Given the description of an element on the screen output the (x, y) to click on. 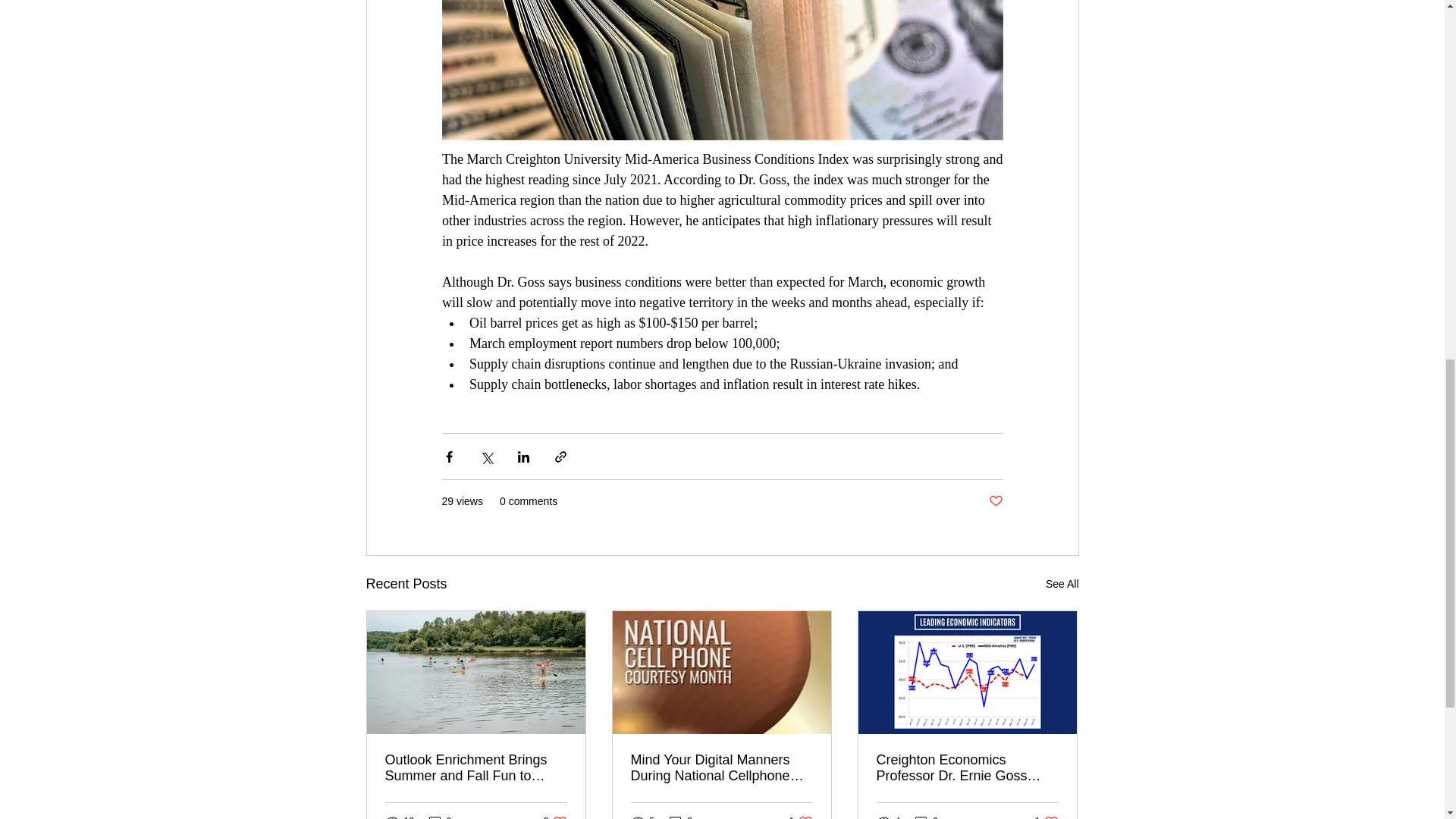
0 (440, 816)
See All (1061, 584)
Post not marked as liked (995, 501)
